Given the description of an element on the screen output the (x, y) to click on. 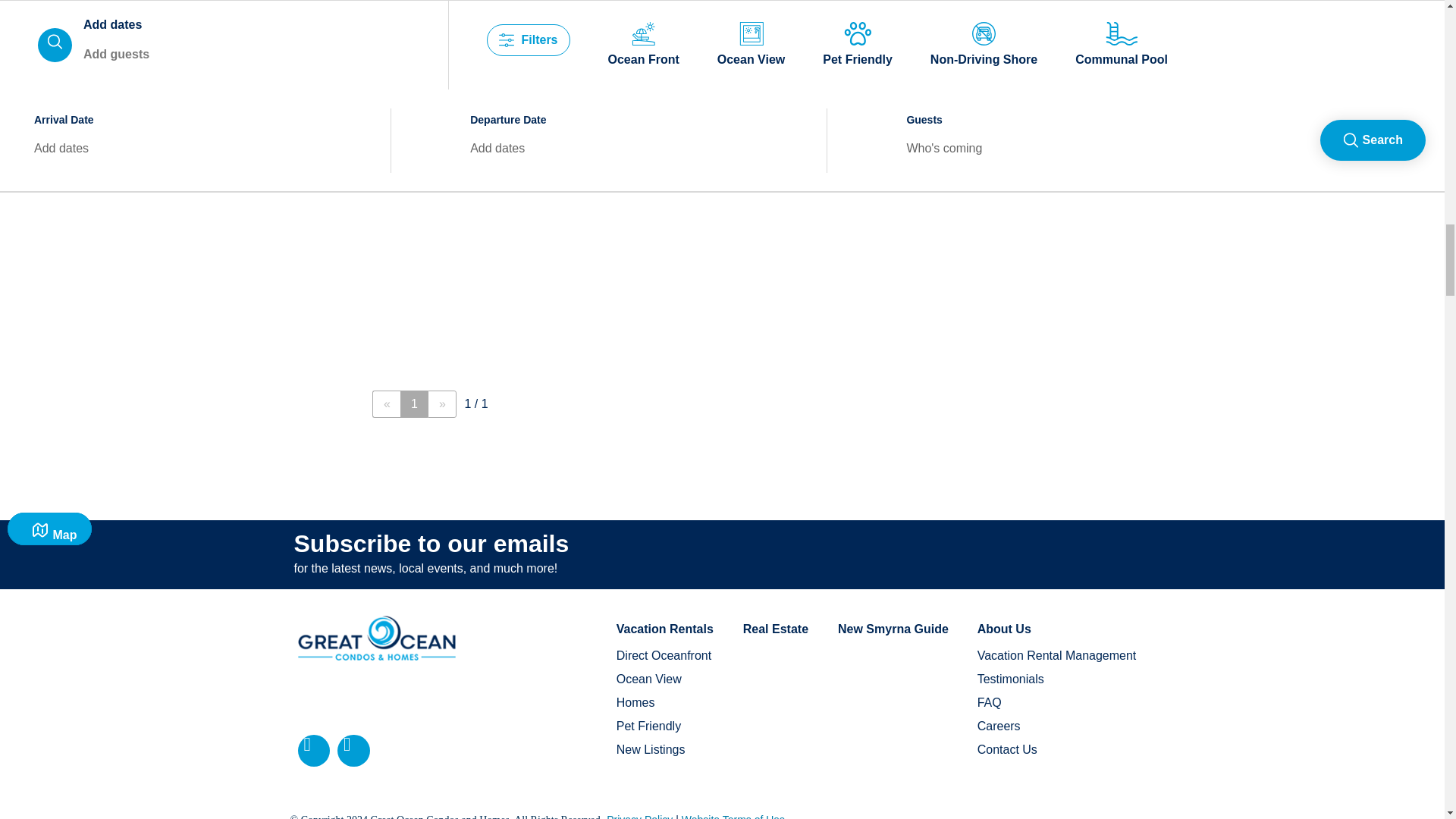
true (34, 283)
true (34, 394)
true (34, 7)
true (34, 238)
true (34, 161)
true (34, 350)
true (34, 50)
true (34, 306)
true (34, 461)
true (34, 95)
true (34, 372)
true (34, 73)
true (34, 117)
true (34, 417)
true (34, 439)
